Given the description of an element on the screen output the (x, y) to click on. 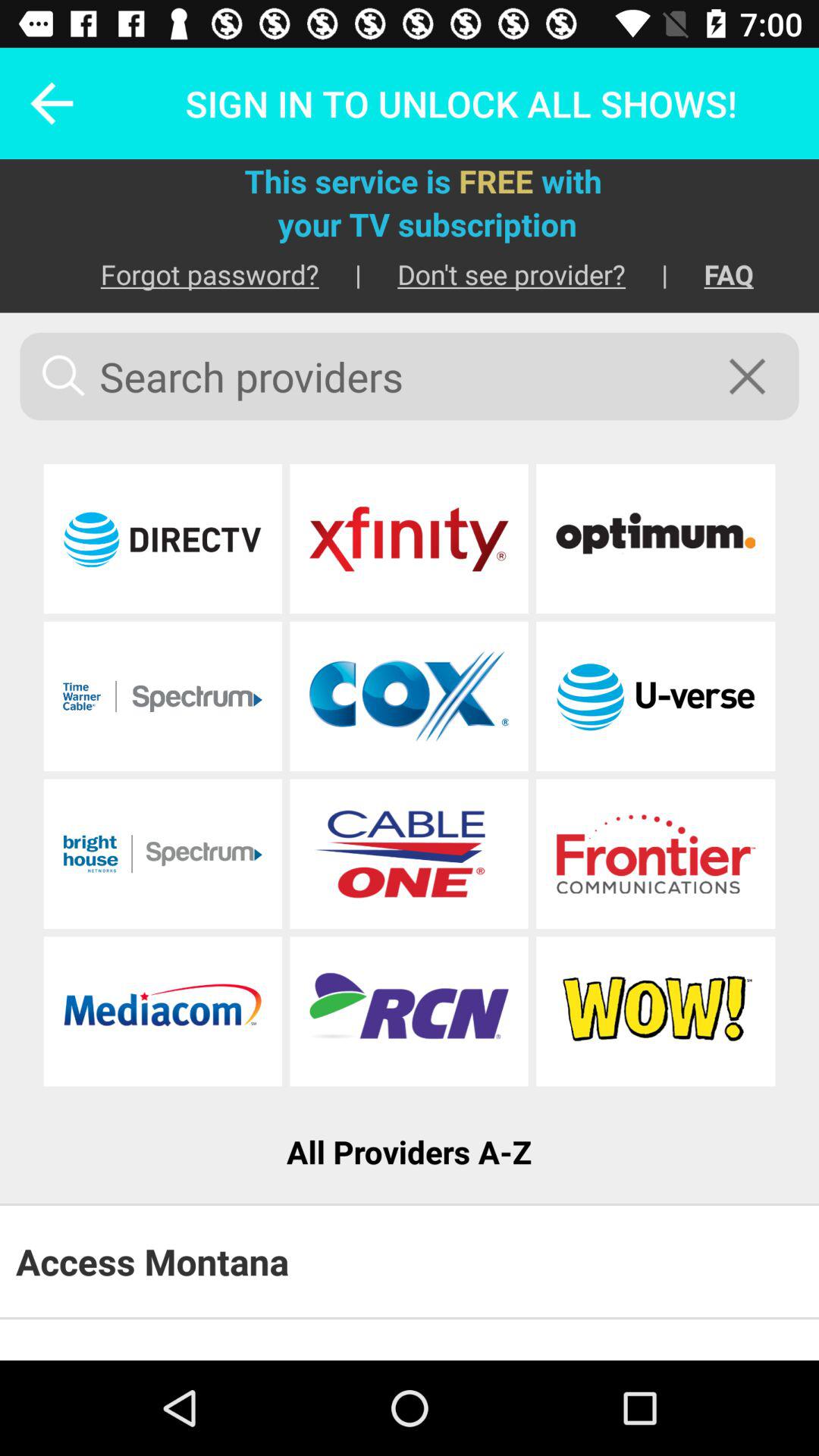
view provider details (408, 853)
